Given the description of an element on the screen output the (x, y) to click on. 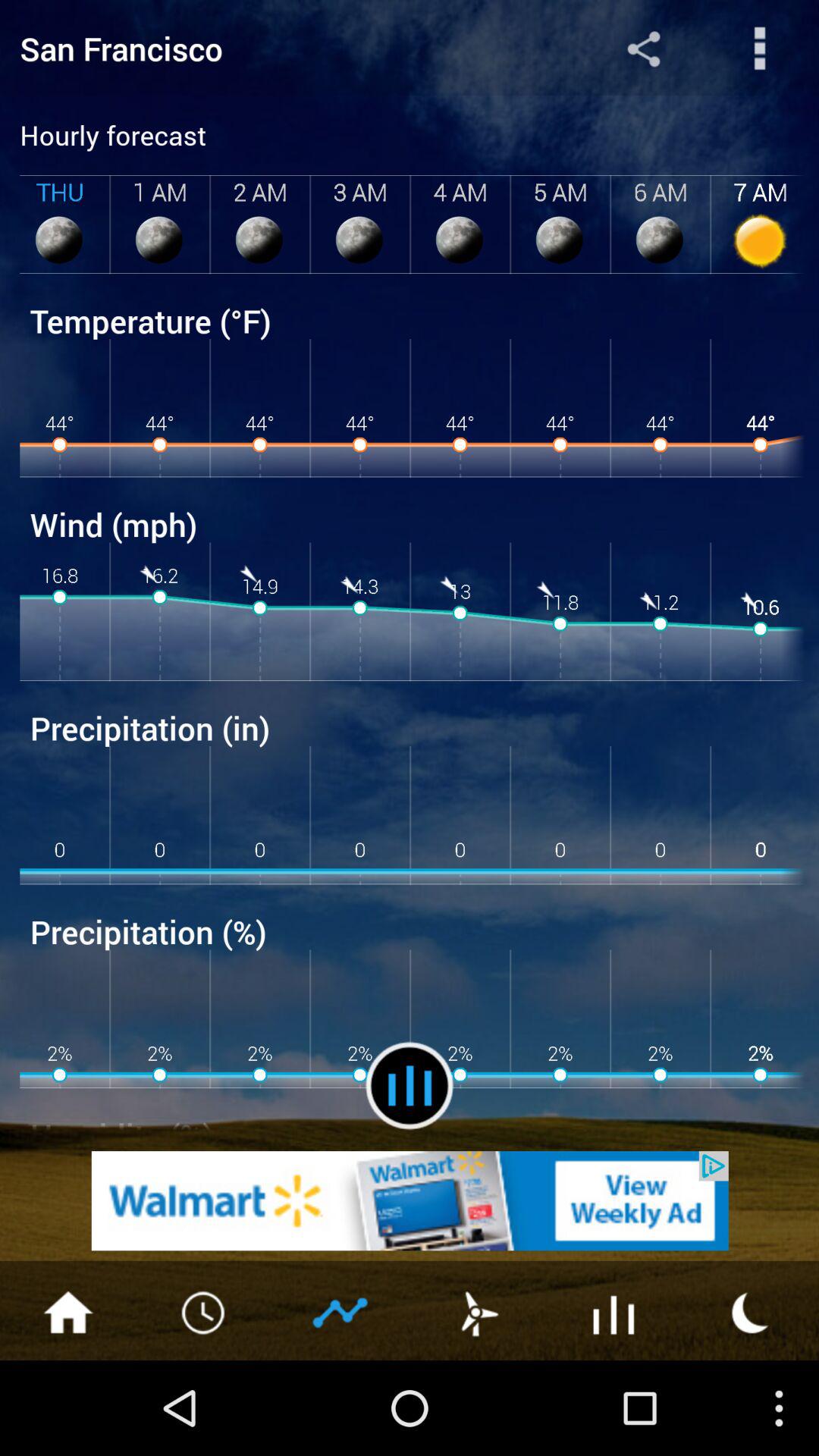
click to go walmart home page (409, 1200)
